Given the description of an element on the screen output the (x, y) to click on. 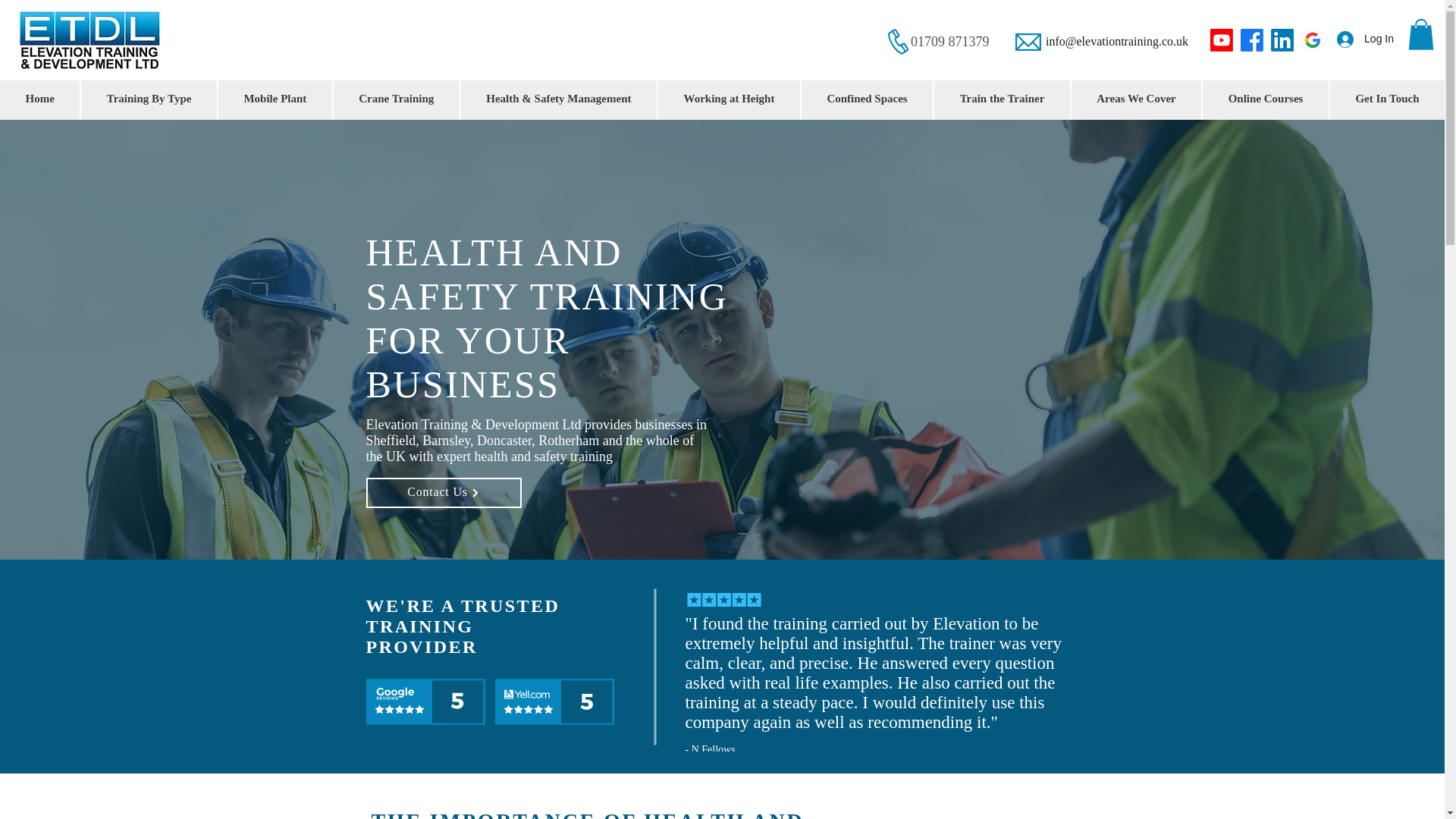
Online Courses (1264, 99)
Home (40, 99)
Log In (1365, 39)
Contact Us (443, 492)
